Given the description of an element on the screen output the (x, y) to click on. 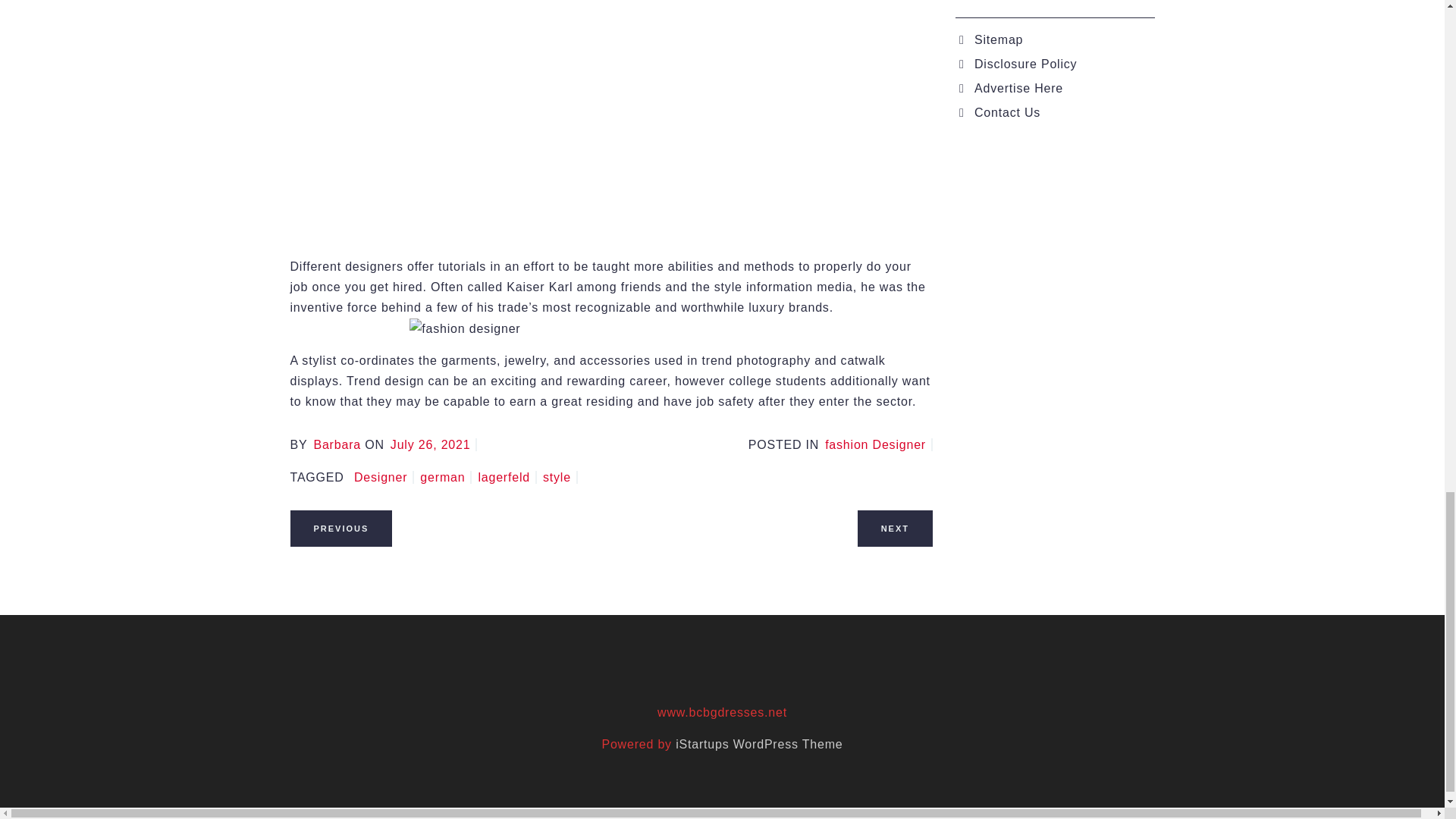
Fashion Designer (879, 444)
NEXT (895, 526)
Barbara (337, 444)
PREVIOUS (340, 526)
PREVIOUS (340, 528)
Designer (383, 477)
Style (560, 477)
July 26, 2021 (433, 444)
German (445, 477)
NEXT (895, 528)
Lagerfeld (507, 477)
